Given the description of an element on the screen output the (x, y) to click on. 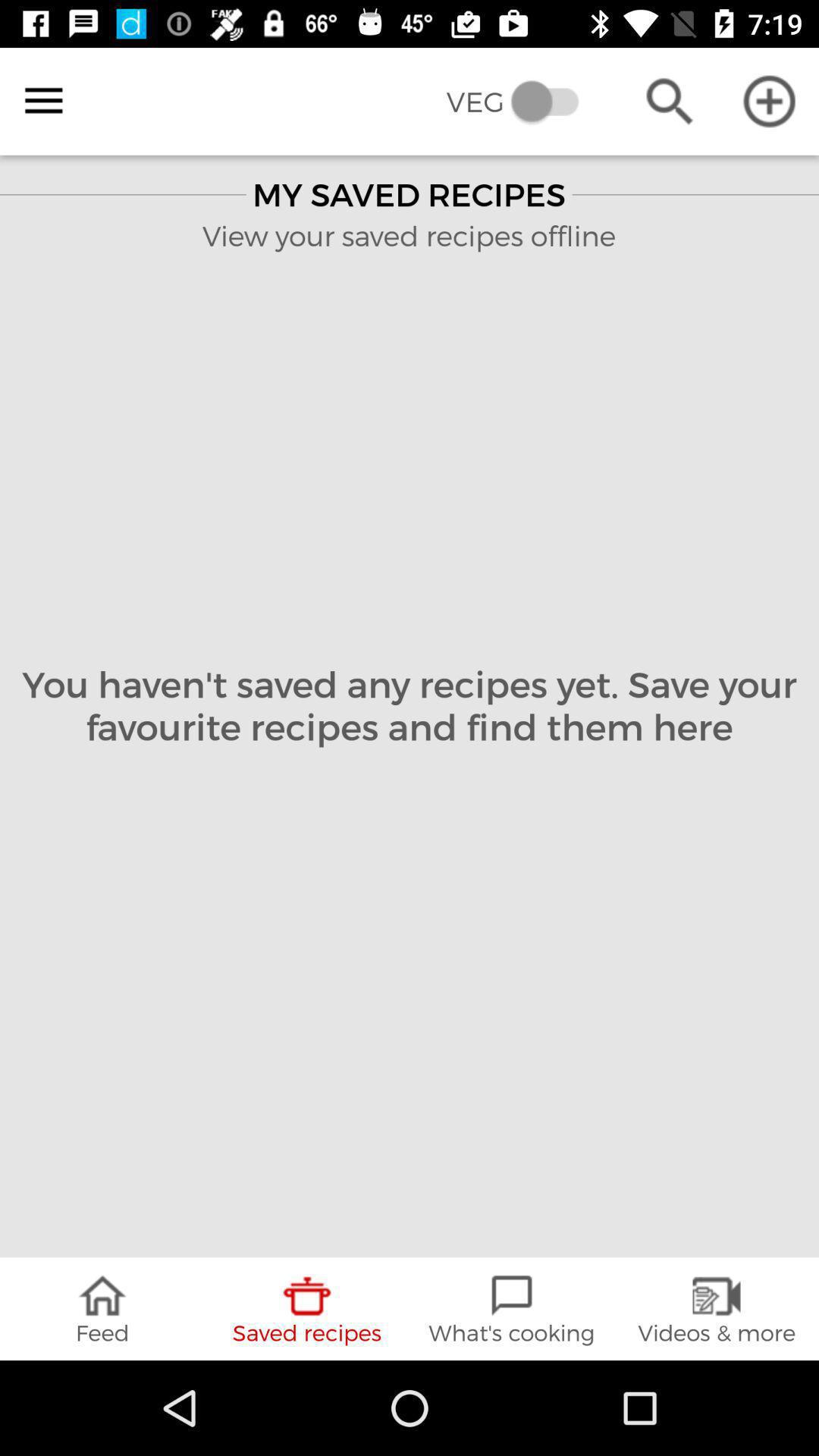
click icon next to saved recipes icon (102, 1308)
